Given the description of an element on the screen output the (x, y) to click on. 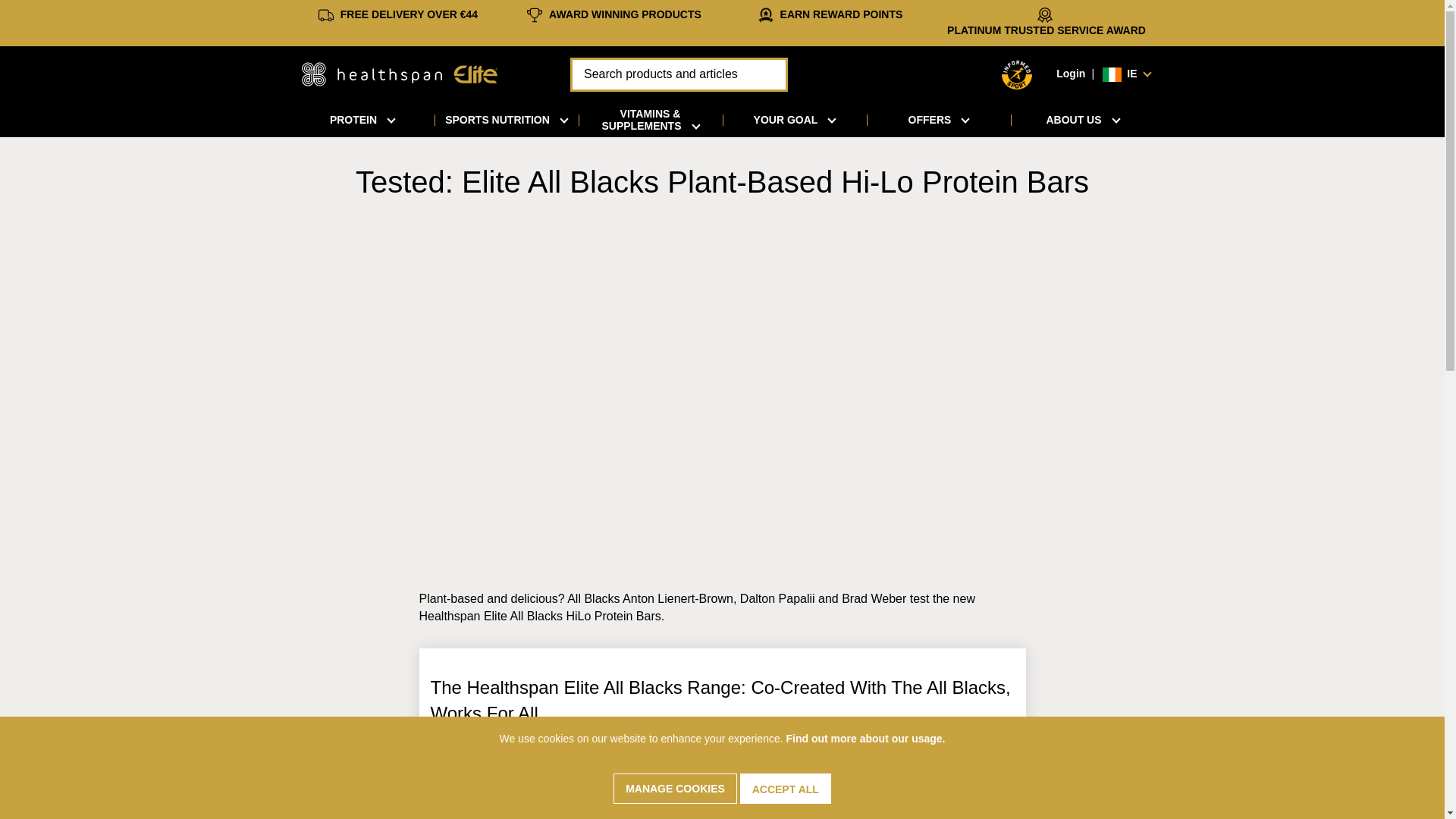
Reward points (841, 14)
Login (1070, 73)
Search products and articles (678, 74)
AWARD WINNING PRODUCTS (624, 14)
Official Partners (624, 14)
EARN REWARD POINTS (841, 14)
Informed Sport (1016, 73)
Healthspan (399, 73)
PLATINUM TRUSTED SERVICE AWARD (1046, 30)
